Given the description of an element on the screen output the (x, y) to click on. 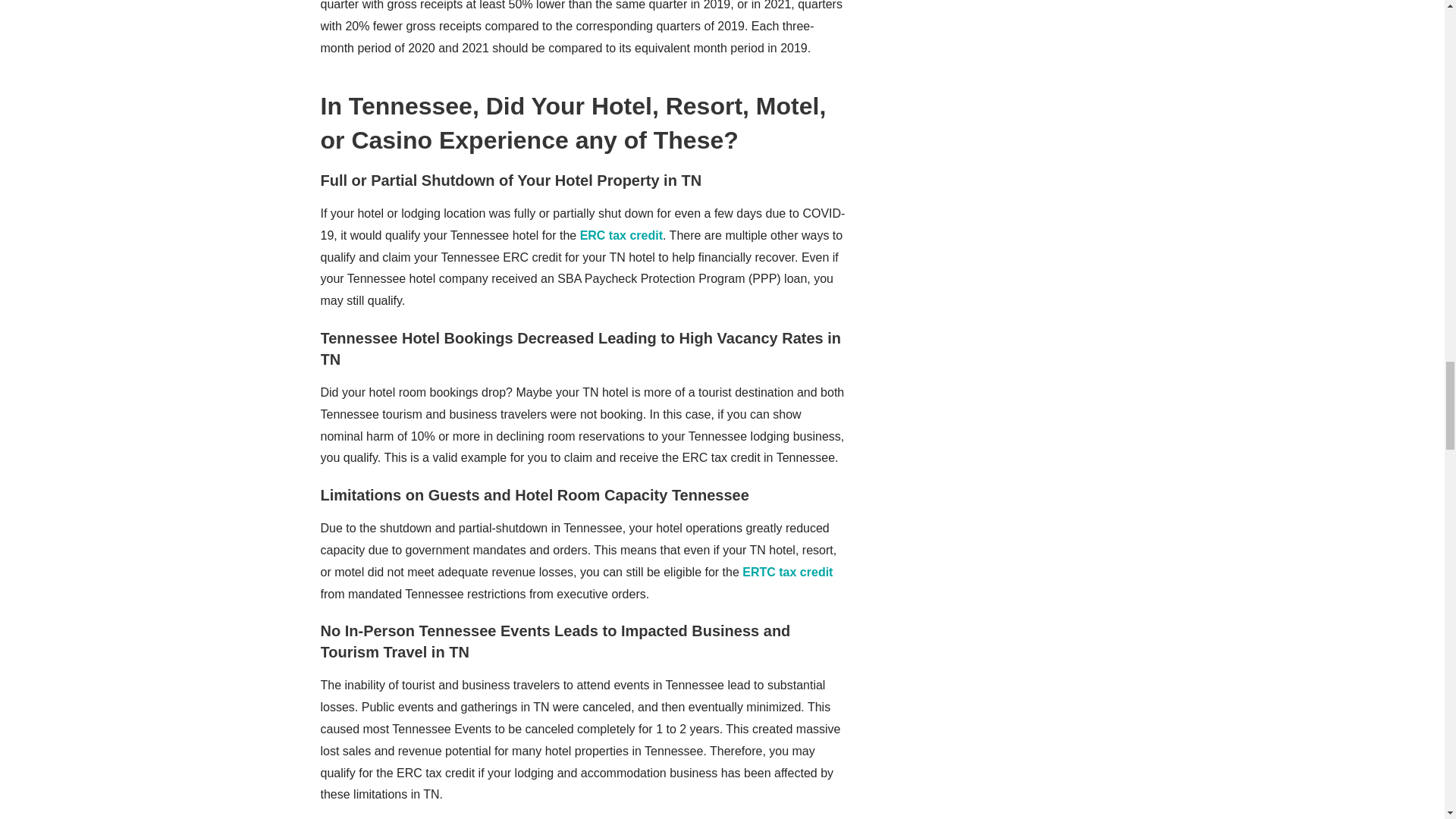
ERC tax credit (620, 235)
ERTC tax credit (787, 571)
